Given the description of an element on the screen output the (x, y) to click on. 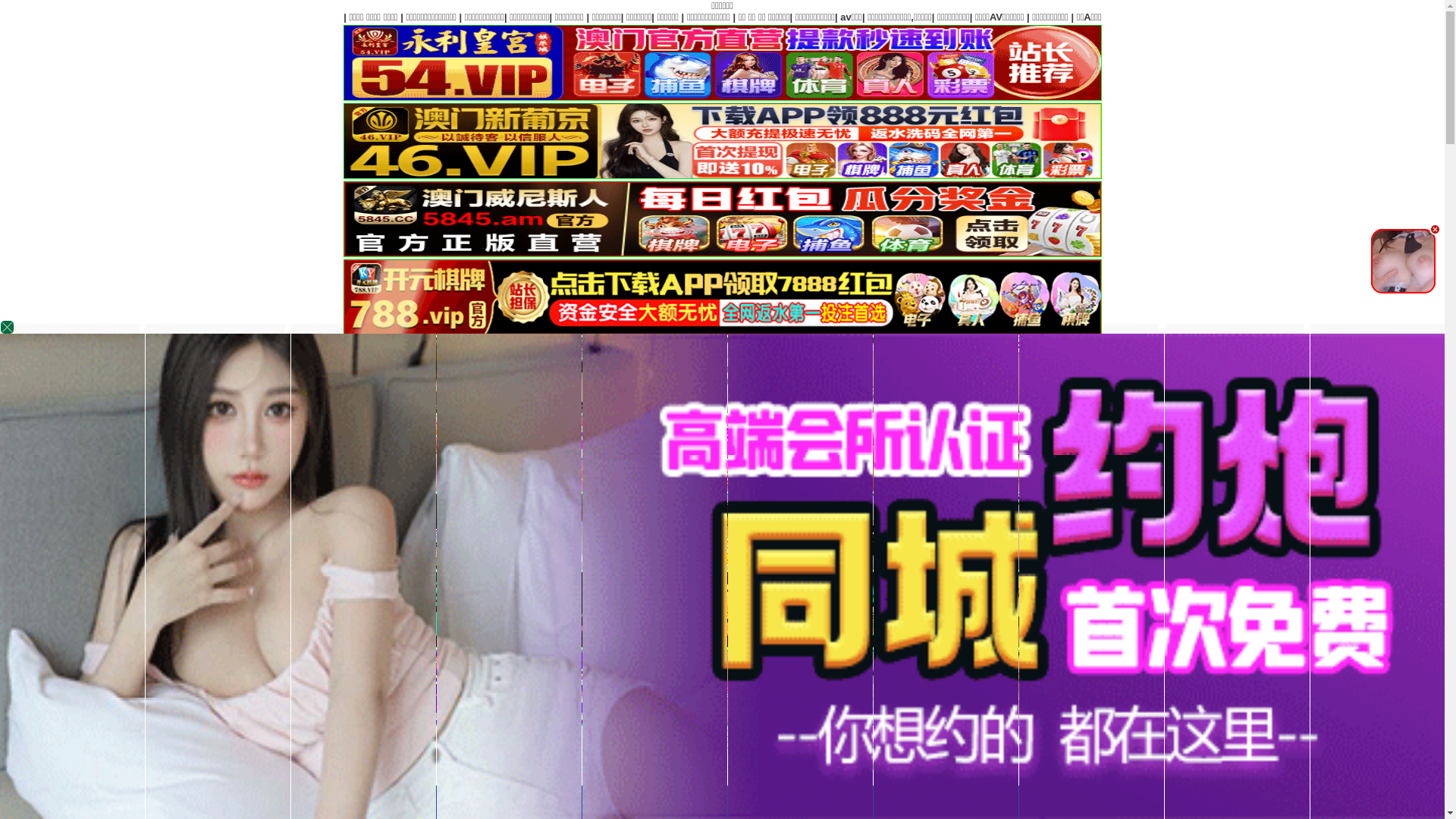
| Element type: text (1044, 16)
| Element type: text (1368, 16)
| Element type: text (1232, 16)
| Element type: text (1091, 16)
| Element type: text (1131, 16)
| Element type: text (980, 16)
| Element type: text (1416, 16)
| Element type: text (1278, 16)
| Element type: text (1005, 16)
| Element type: text (1325, 16)
| Element type: text (1170, 16)
